Given the description of an element on the screen output the (x, y) to click on. 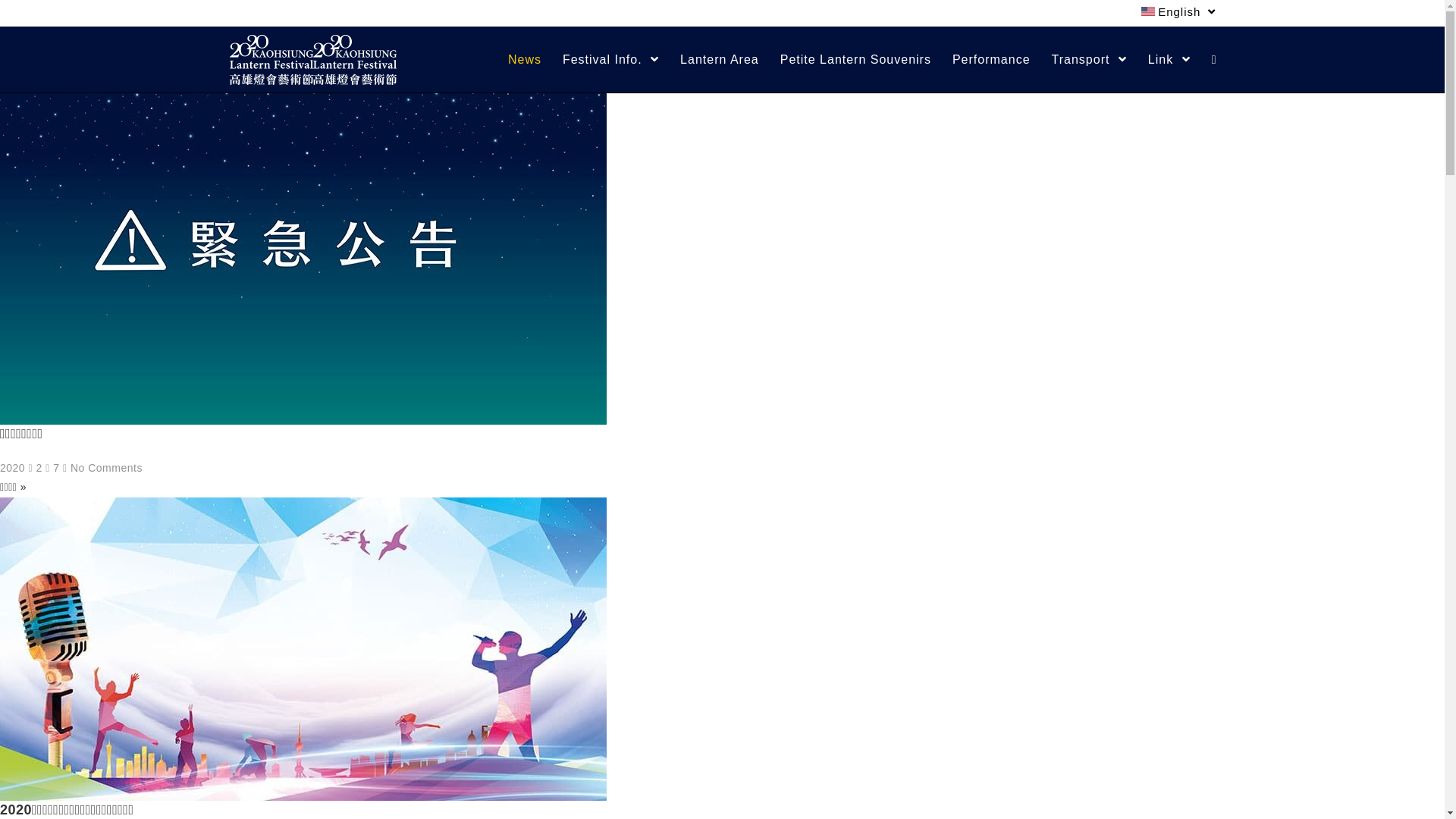
Transport Element type: text (1089, 59)
News Element type: text (524, 59)
Link Element type: text (1169, 59)
Lantern Area Element type: text (719, 59)
Petite Lantern Souvenirs Element type: text (855, 59)
Festival Info. Element type: text (610, 59)
English Element type: text (1178, 11)
Performance Element type: text (991, 59)
